Given the description of an element on the screen output the (x, y) to click on. 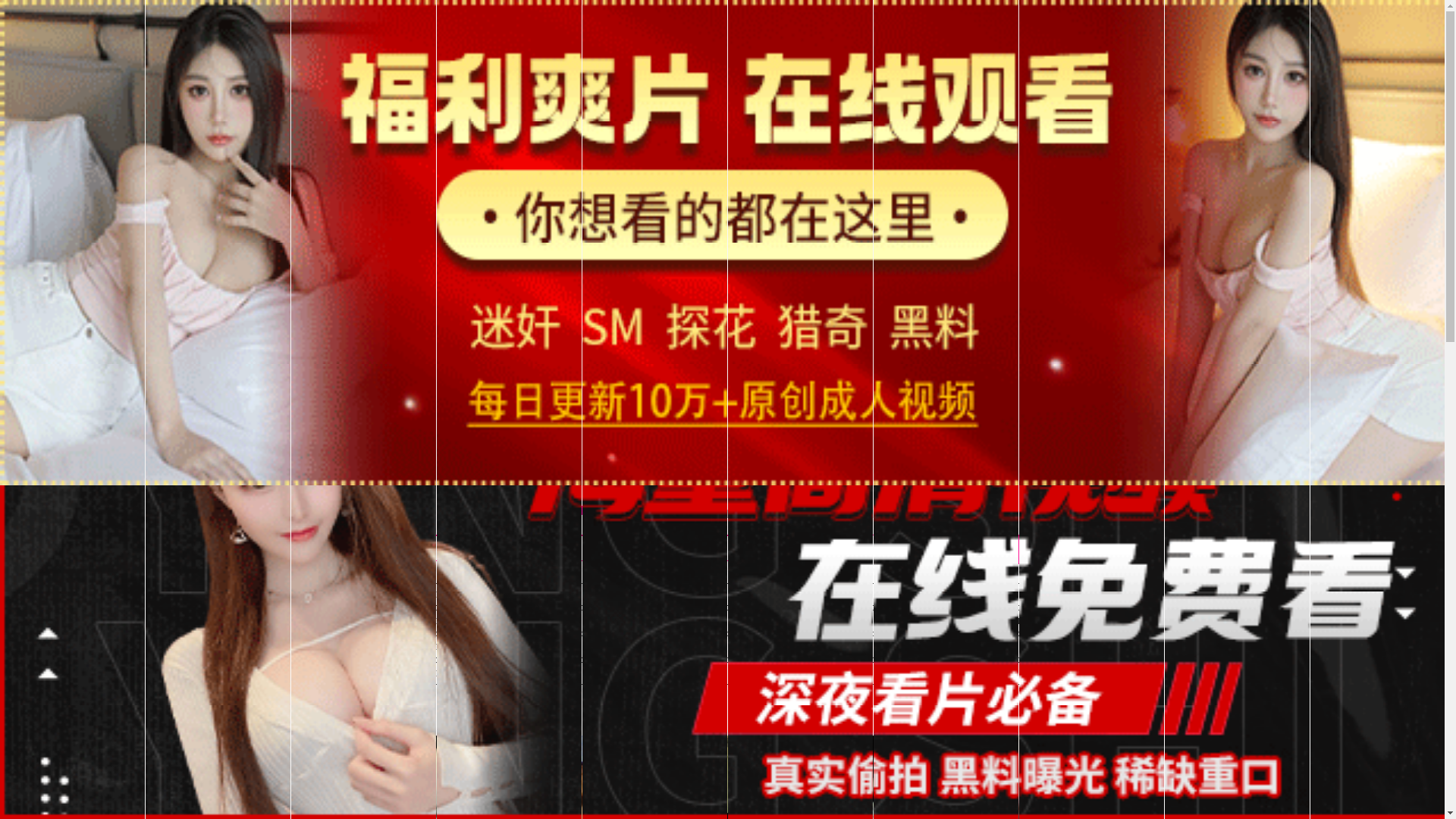
3P Element type: text (968, 620)
SM Element type: text (1013, 620)
91 Element type: text (567, 594)
COS Element type: text (835, 646)
Korean Element type: text (700, 620)
91TV Element type: hover (1240, 593)
